Given the description of an element on the screen output the (x, y) to click on. 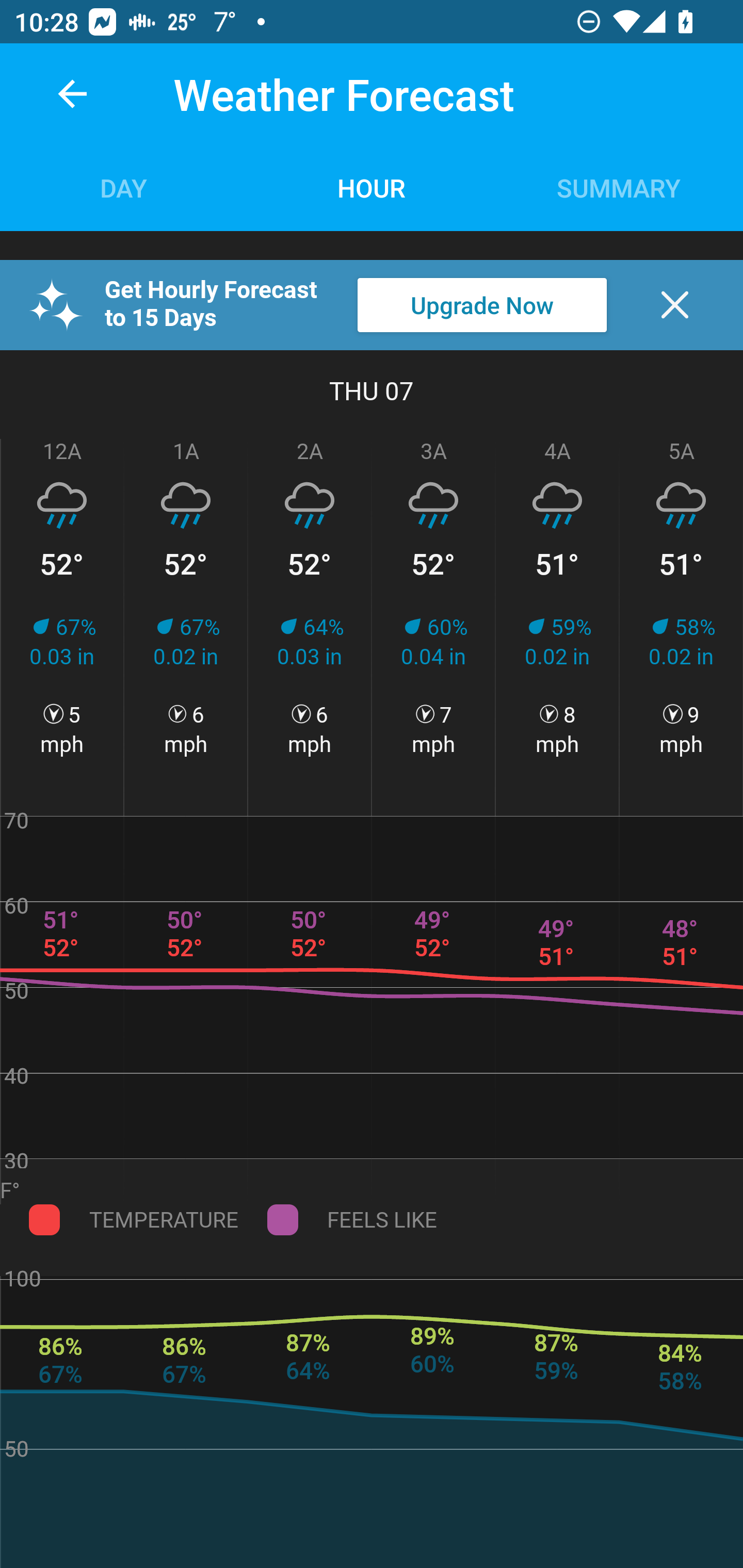
back (71, 93)
Day Tab DAY (123, 187)
Summary Tab SUMMARY (619, 187)
Upgrade Now (482, 304)
